Given the description of an element on the screen output the (x, y) to click on. 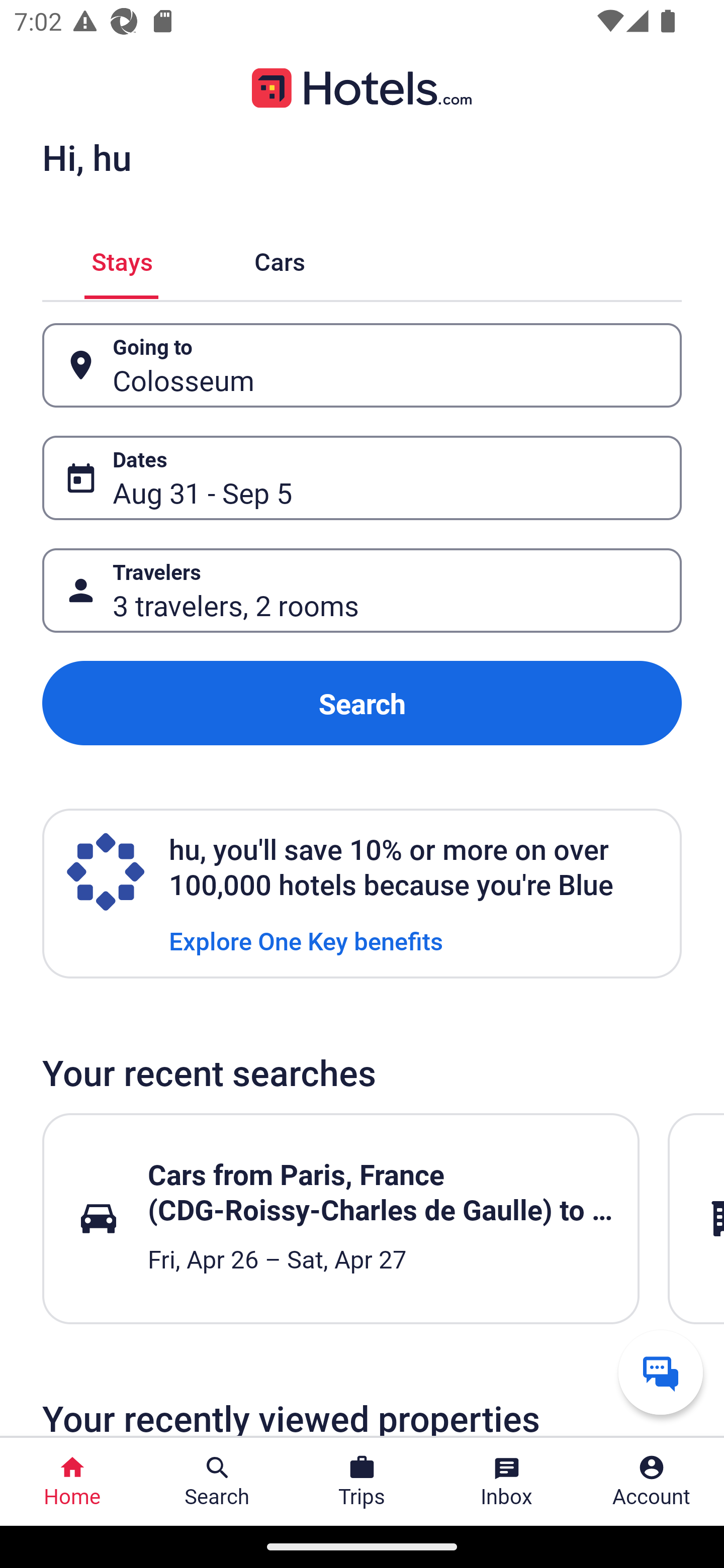
Hi, hu (86, 156)
Cars (279, 259)
Going to Button Colosseum (361, 365)
Dates Button Aug 31 - Sep 5 (361, 477)
Travelers Button 3 travelers, 2 rooms (361, 590)
Search (361, 702)
Get help from a virtual agent (660, 1371)
Search Search Button (216, 1481)
Trips Trips Button (361, 1481)
Inbox Inbox Button (506, 1481)
Account Profile. Button (651, 1481)
